Given the description of an element on the screen output the (x, y) to click on. 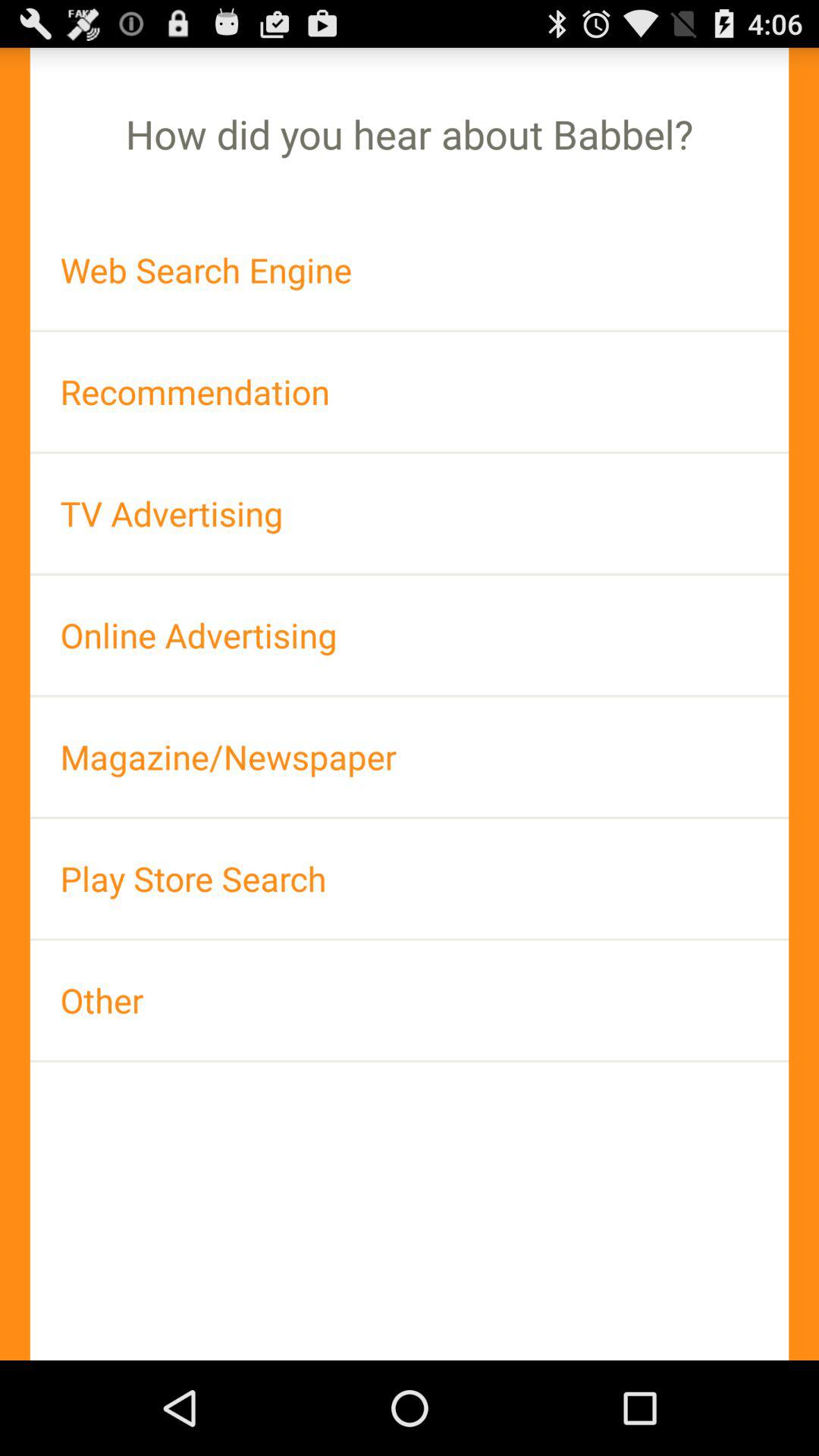
press magazine/newspaper item (409, 756)
